Given the description of an element on the screen output the (x, y) to click on. 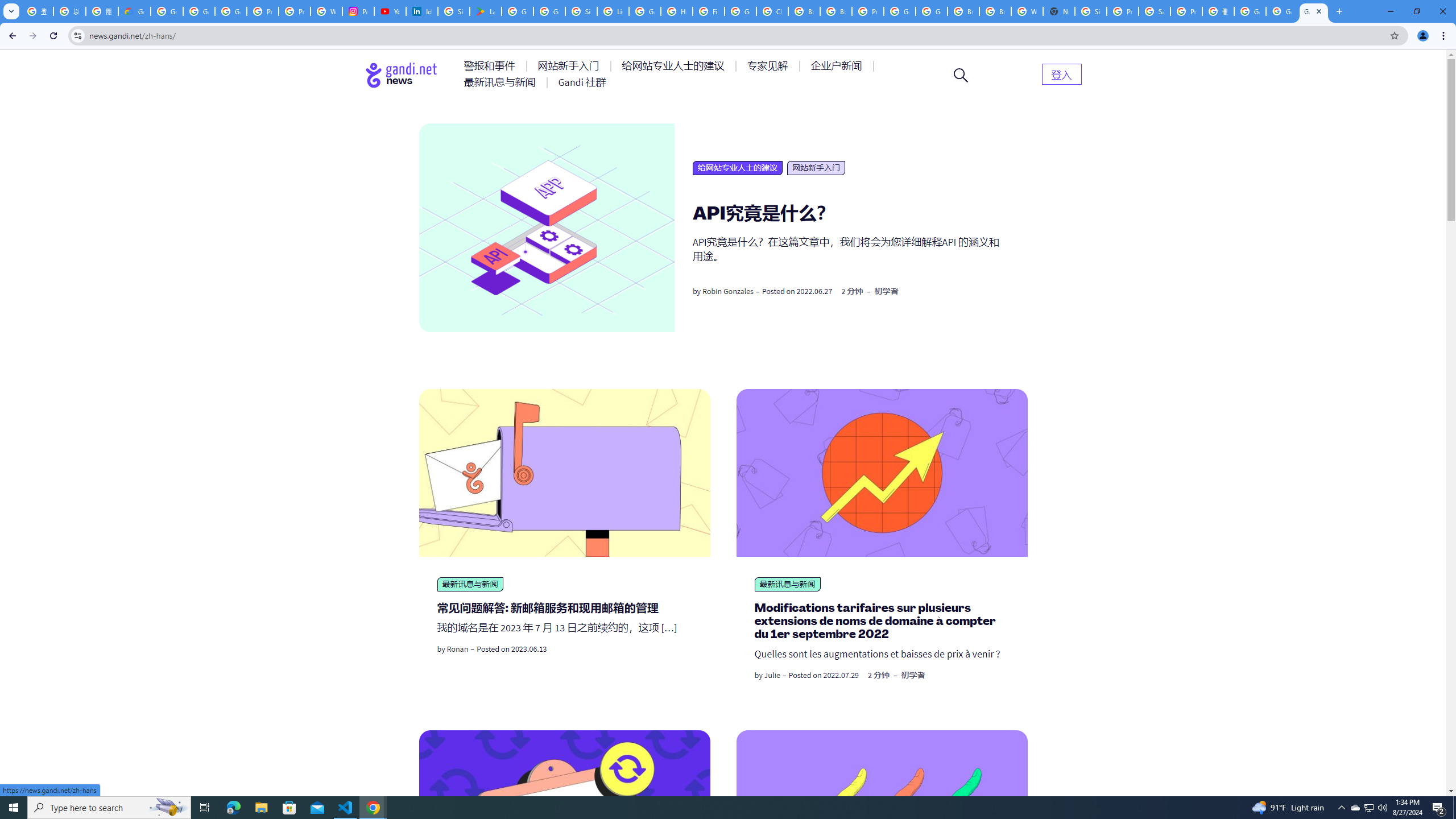
New Tab (1059, 11)
AutomationID: menu-item-77765 (838, 65)
AutomationID: menu-item-77766 (502, 82)
How do I create a new Google Account? - Google Account Help (676, 11)
Sign in - Google Accounts (581, 11)
Go to home (401, 75)
Open search form (960, 74)
